Given the description of an element on the screen output the (x, y) to click on. 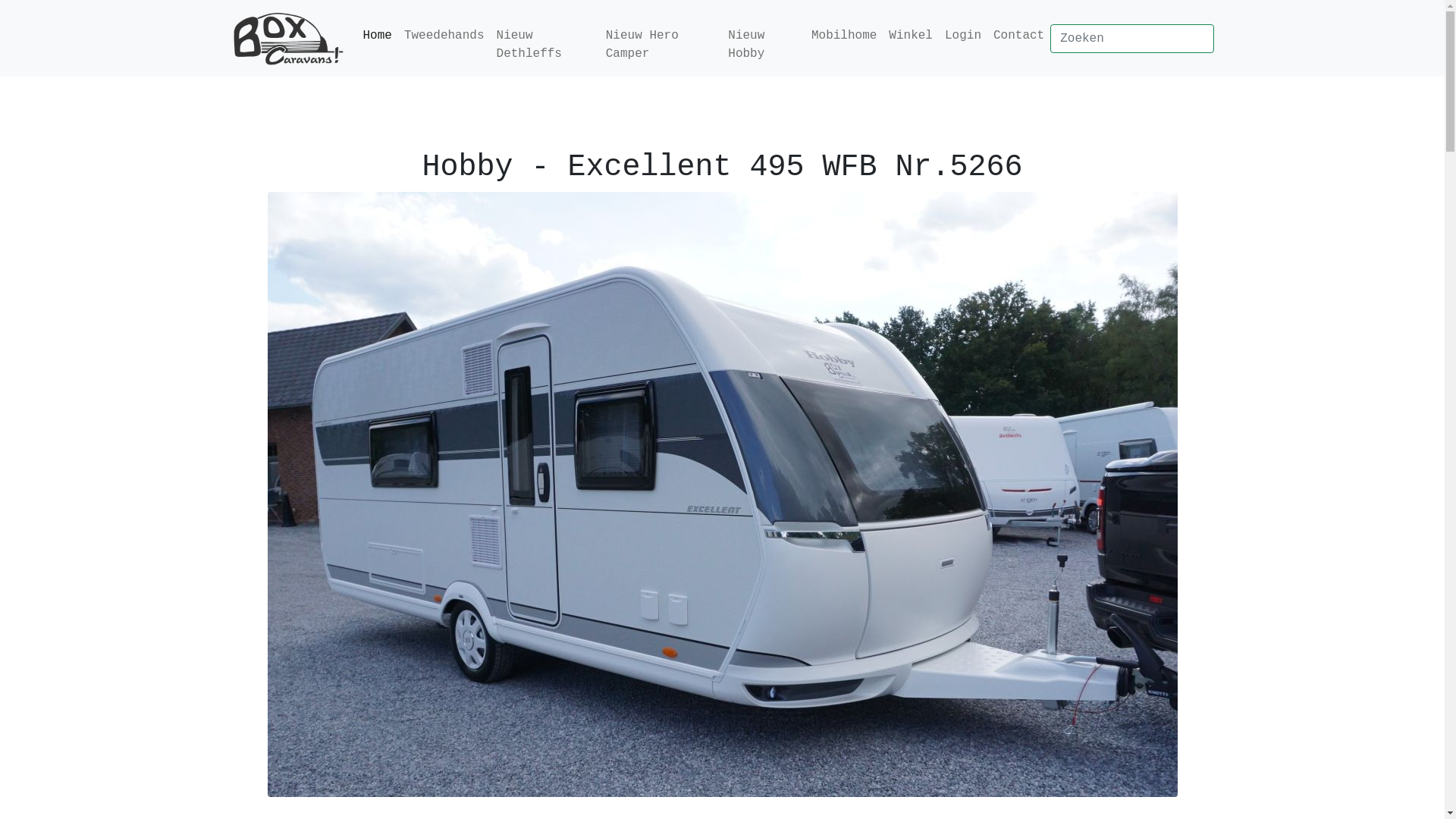
Contact Element type: text (1018, 34)
Login Element type: text (962, 34)
Nieuw Dethleffs Element type: text (544, 43)
Home Element type: text (376, 34)
Nieuw Hobby Element type: text (763, 43)
Mobilhome Element type: text (843, 34)
Nieuw Hero Camper Element type: text (660, 43)
Tweedehands Element type: text (444, 34)
Winkel Element type: text (910, 34)
